Given the description of an element on the screen output the (x, y) to click on. 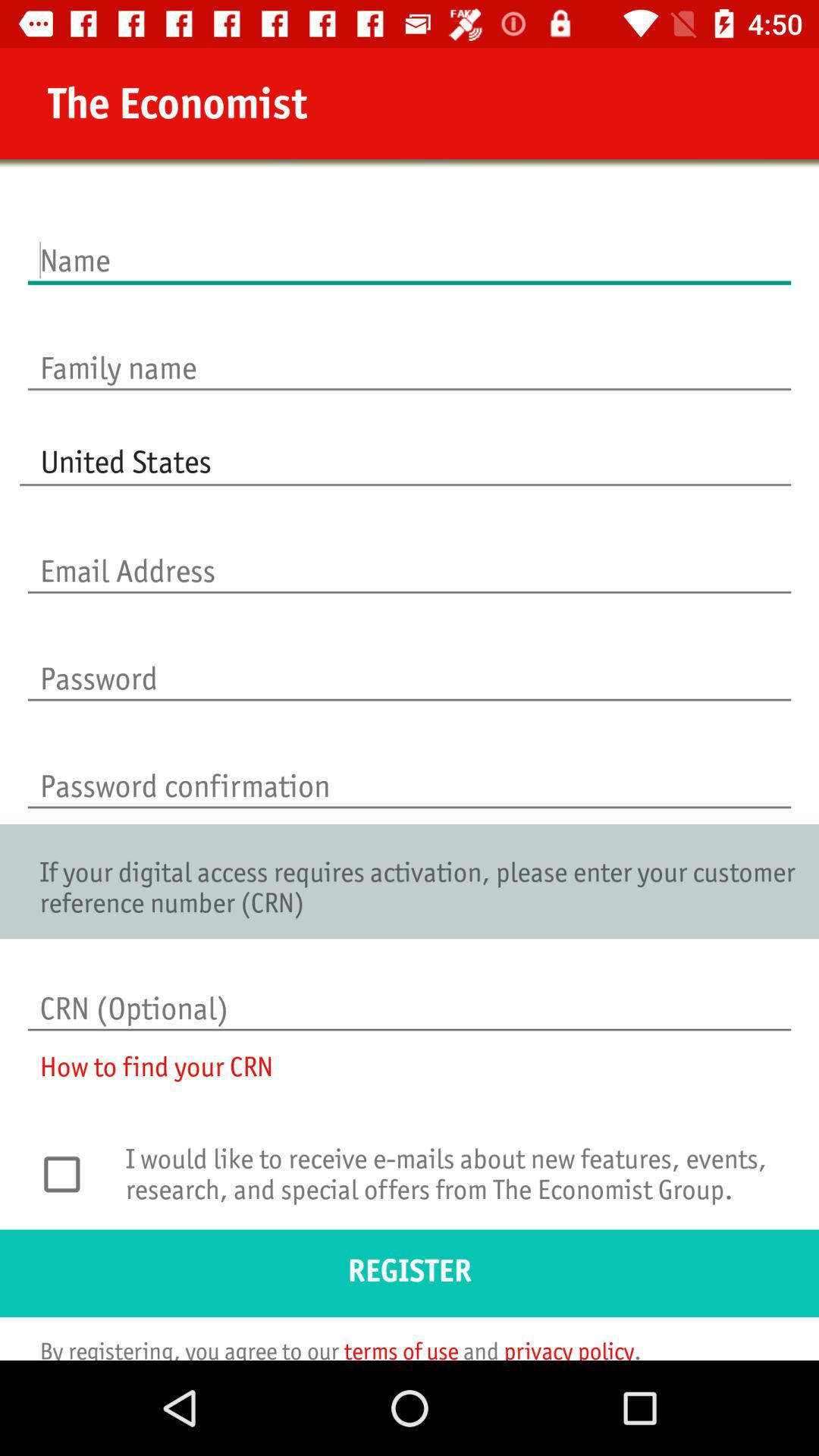
click to agree (69, 1174)
